Given the description of an element on the screen output the (x, y) to click on. 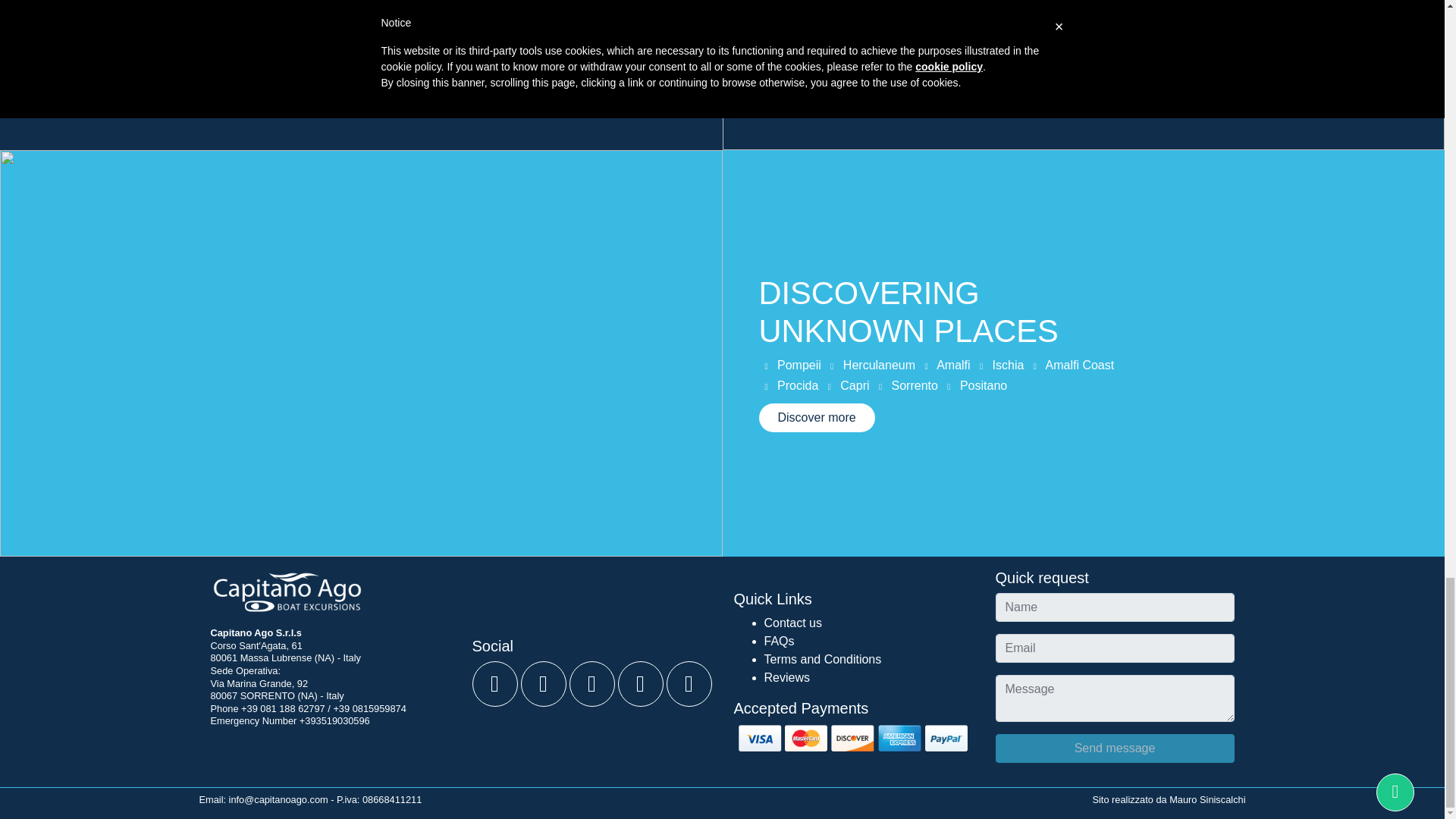
Cookie Policy (343, 748)
Privacy Policy (254, 748)
Accepted Payments (852, 737)
